Given the description of an element on the screen output the (x, y) to click on. 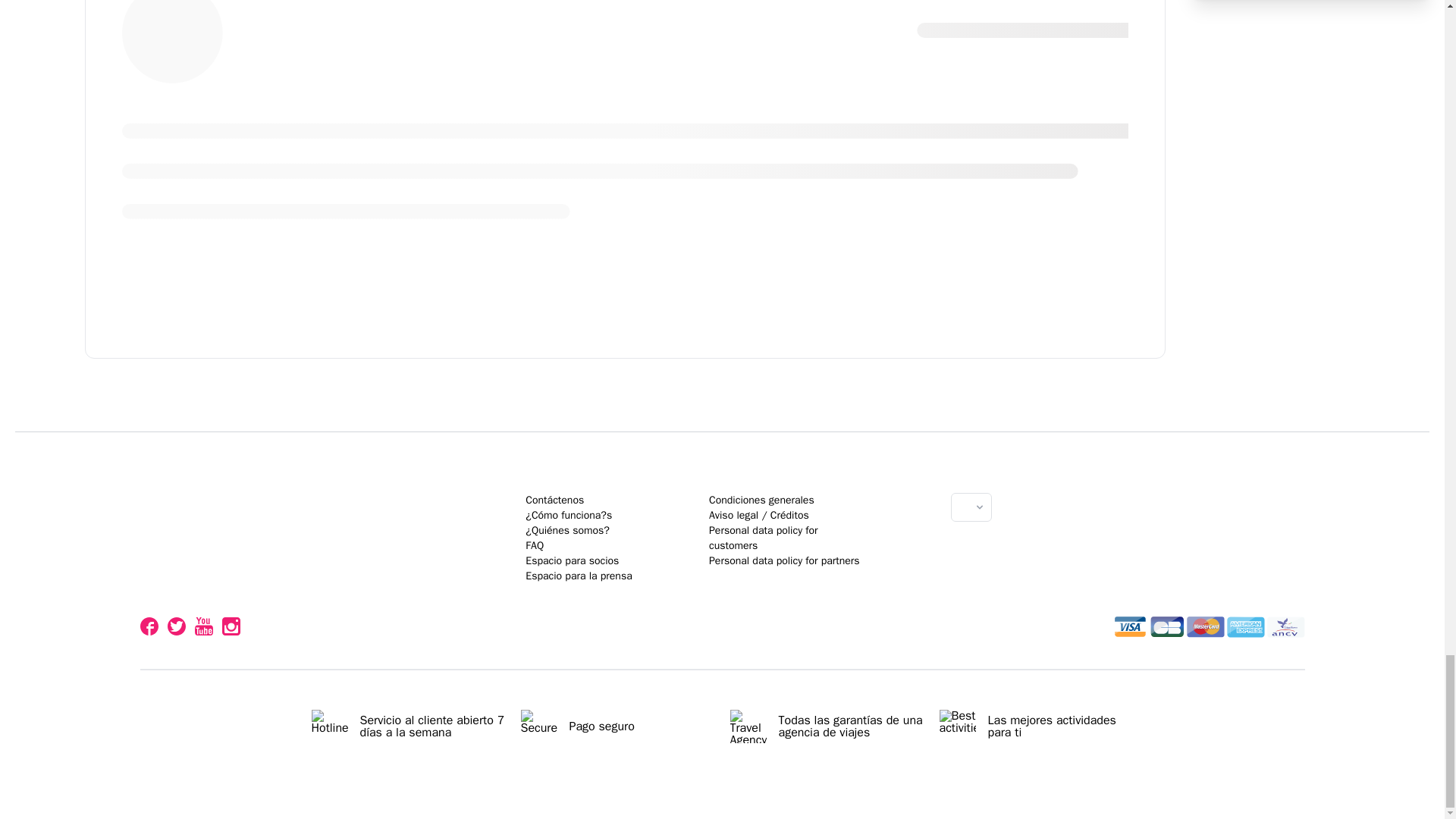
Espacio para socios (571, 560)
FAQ (534, 545)
